Given the description of an element on the screen output the (x, y) to click on. 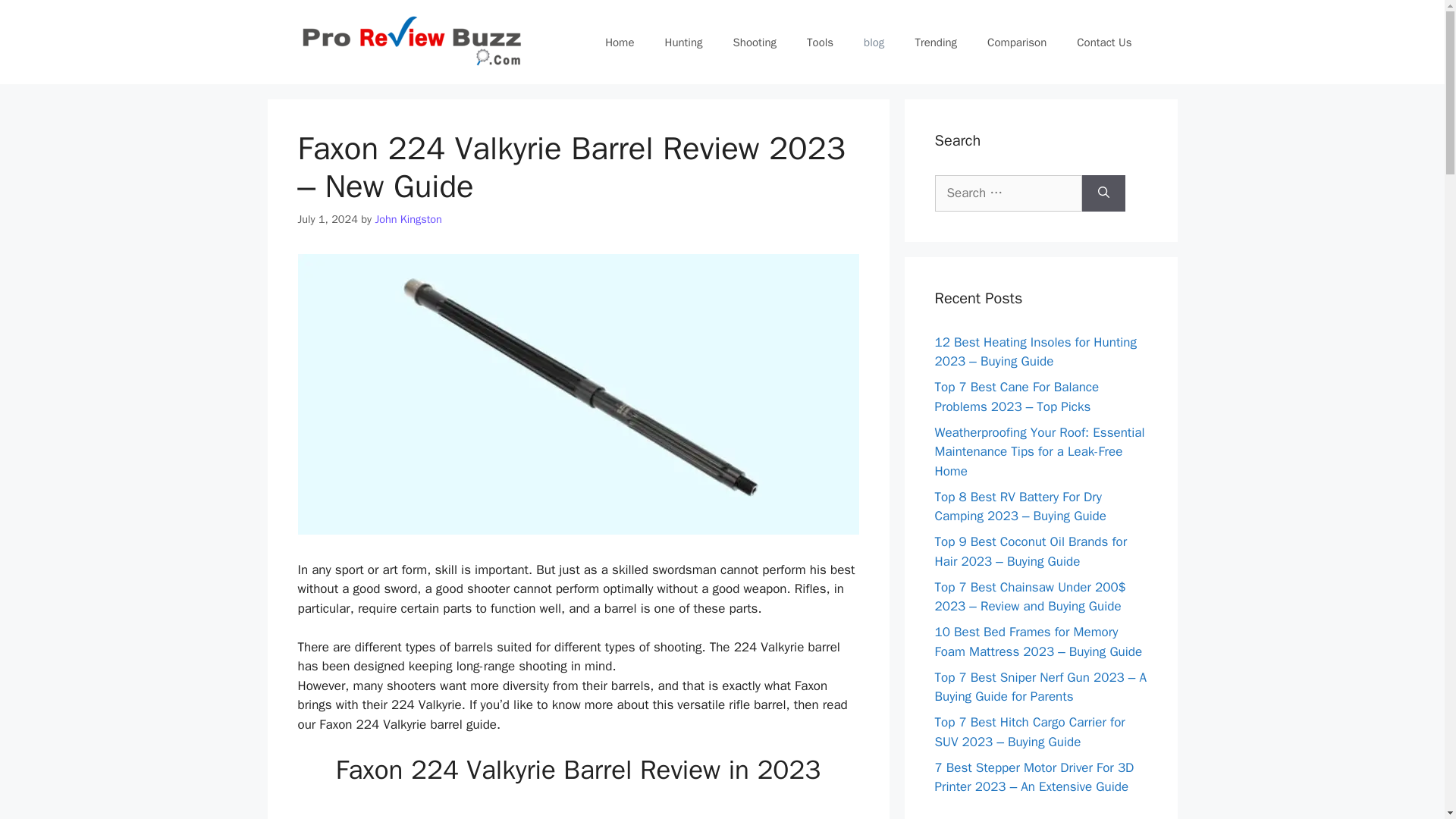
Home (619, 42)
Trending (935, 42)
Hunting (683, 42)
blog (873, 42)
Comparison (1016, 42)
John Kingston (408, 219)
View all posts by John Kingston (408, 219)
Contact Us (1104, 42)
Search for: (1007, 193)
